Given the description of an element on the screen output the (x, y) to click on. 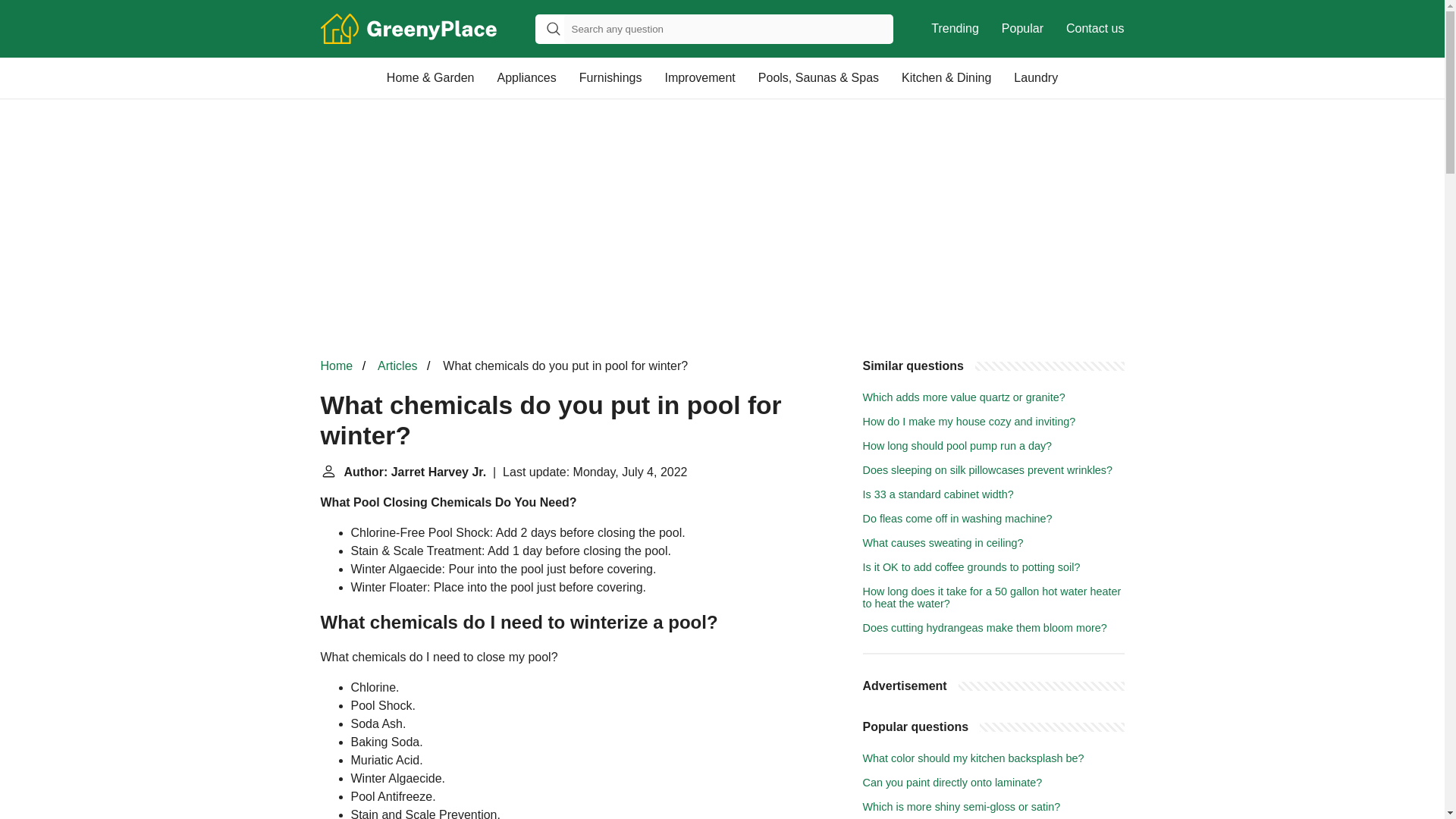
Home (336, 365)
Does cutting hydrangeas make them bloom more? (984, 627)
Which is more shiny semi-gloss or satin? (962, 806)
Which adds more value quartz or granite? (964, 397)
Appliances (525, 77)
How do I make my house cozy and inviting? (969, 421)
Laundry (1035, 77)
Contact us (1094, 28)
Articles (396, 365)
What color should my kitchen backsplash be? (973, 758)
Do fleas come off in washing machine? (957, 518)
Can you paint directly onto laminate? (952, 782)
Furnishings (610, 77)
How long should pool pump run a day? (957, 445)
Does sleeping on silk pillowcases prevent wrinkles? (988, 469)
